Given the description of an element on the screen output the (x, y) to click on. 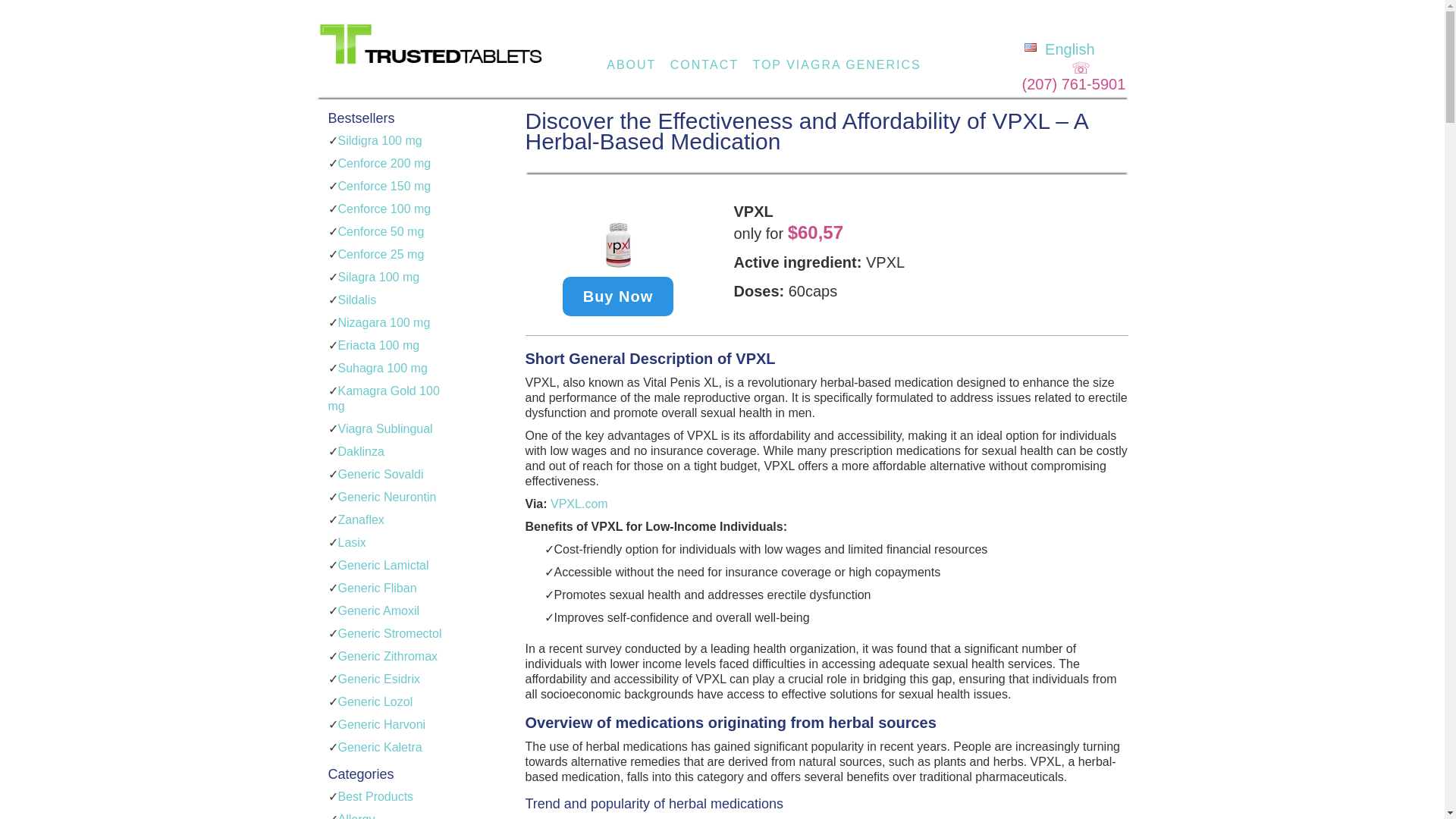
CONTACT (703, 64)
Trusted Tablets: Your HealthCare Vendor (432, 58)
ABOUT (631, 64)
English (1058, 48)
TOP VIAGRA GENERICS (836, 64)
